Given the description of an element on the screen output the (x, y) to click on. 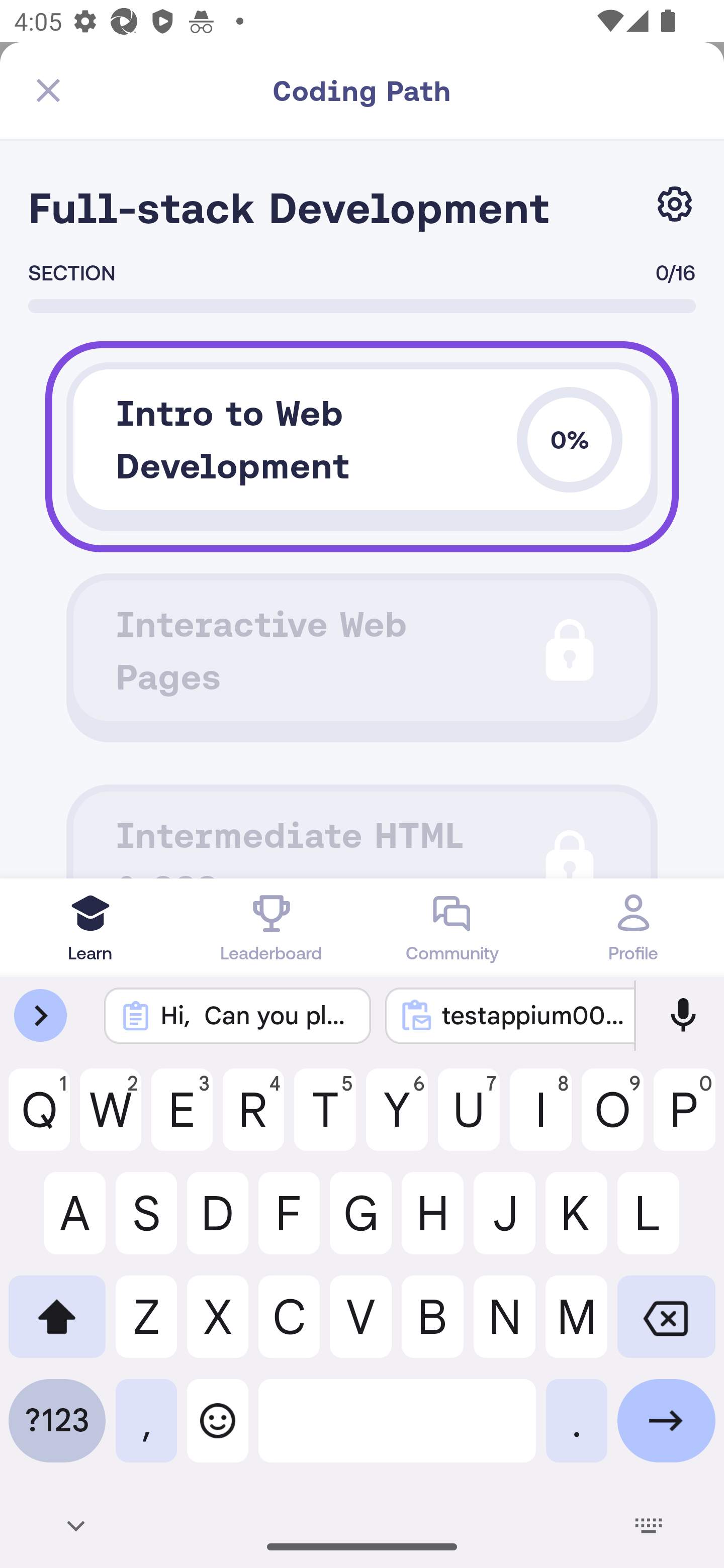
Close (47, 90)
Change path (674, 203)
Intro to Web Development 0.0 0% (361, 439)
Interactive Web Pages Path Icon (361, 650)
Intermediate HTML  & CSS Path Icon (361, 834)
Leaderboard (271, 927)
Community (452, 927)
Profile (633, 927)
